Given the description of an element on the screen output the (x, y) to click on. 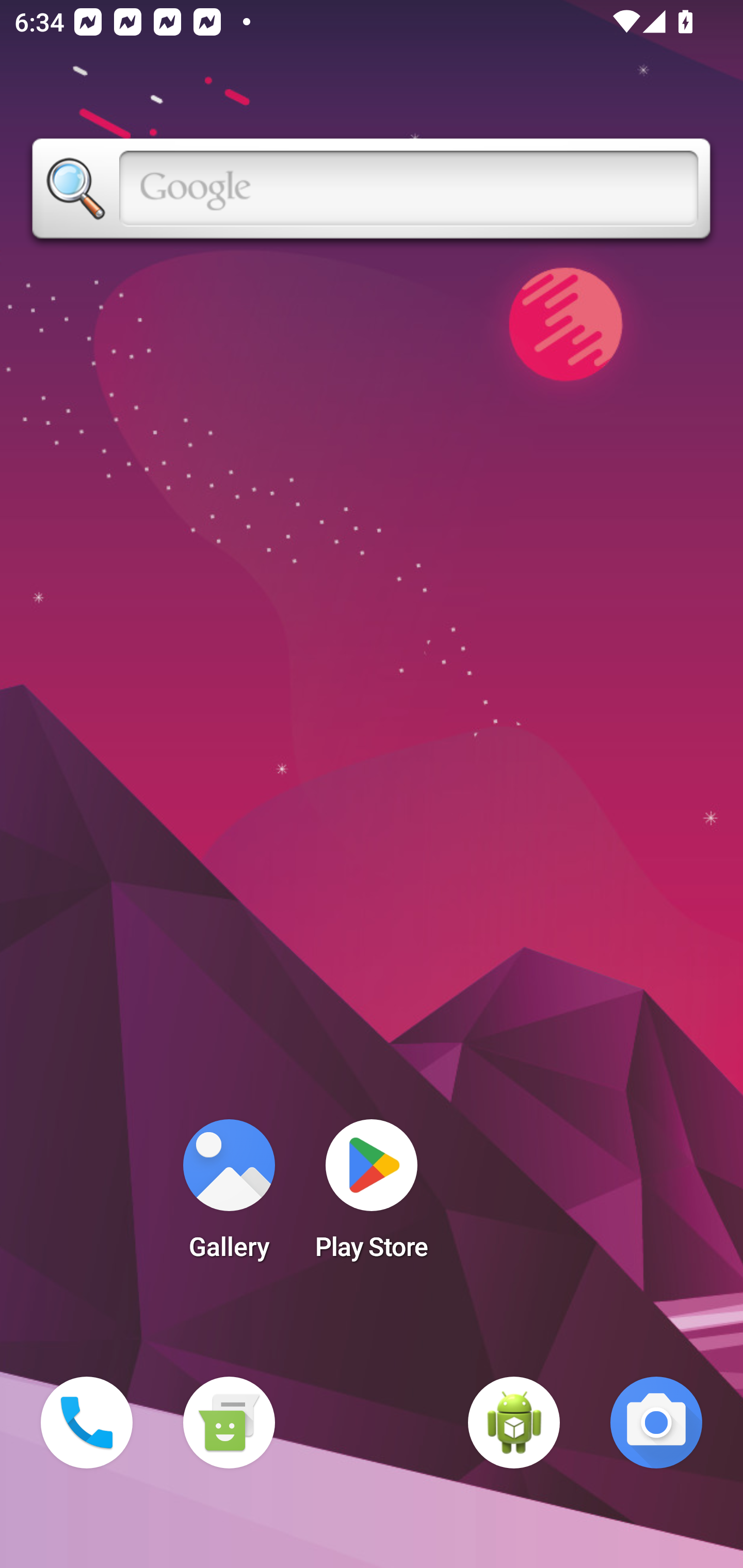
Gallery (228, 1195)
Play Store (371, 1195)
Phone (86, 1422)
Messaging (228, 1422)
WebView Browser Tester (513, 1422)
Camera (656, 1422)
